Given the description of an element on the screen output the (x, y) to click on. 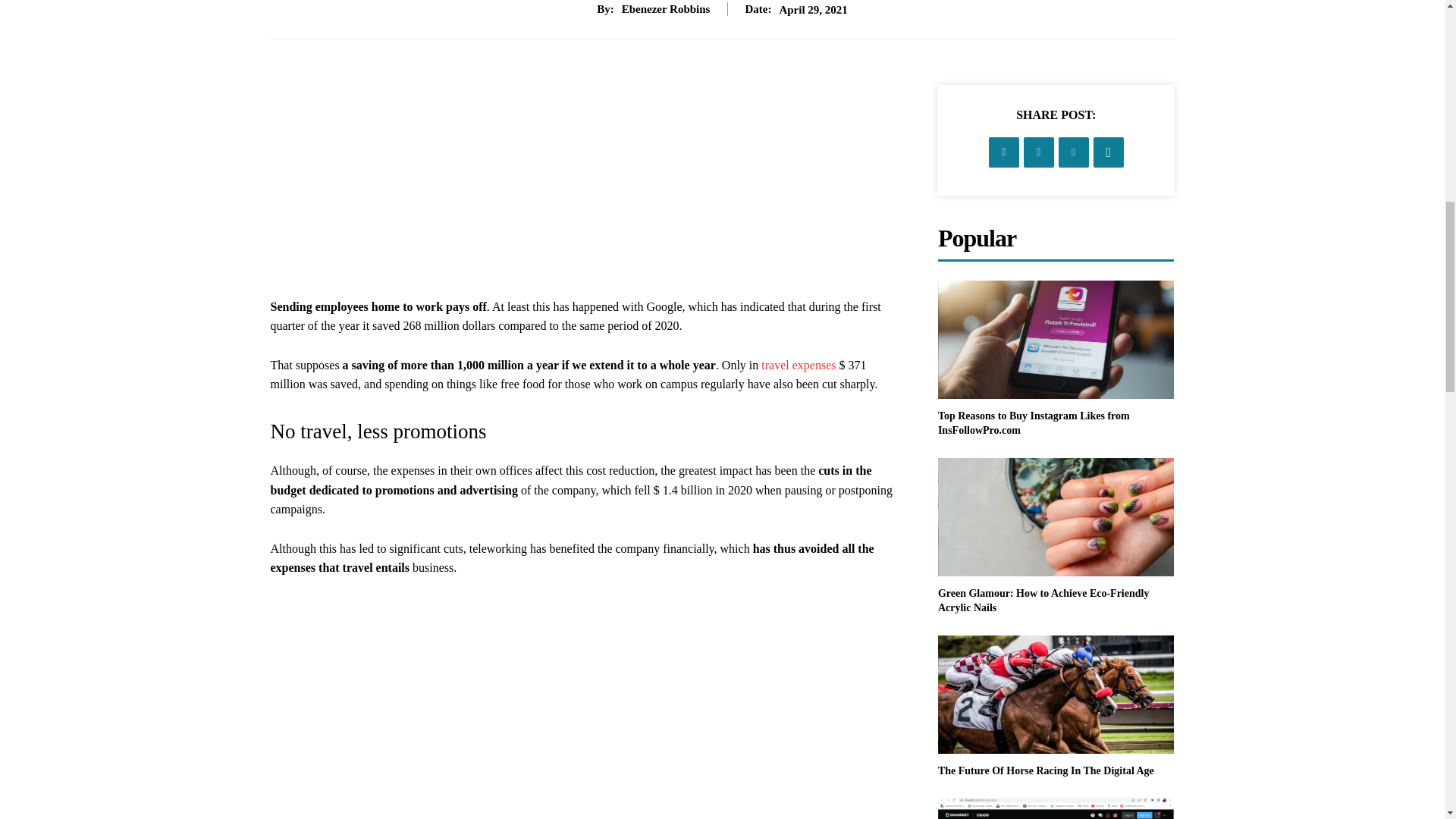
Facebook (1003, 152)
Green Glamour: How to Achieve Eco-Friendly Acrylic Nails (1055, 516)
Advertisement (585, 718)
Top Reasons to Buy Instagram Likes from InsFollowPro.com (1033, 423)
Advertisement (585, 191)
Green Glamour: How to Achieve Eco-Friendly Acrylic Nails (1043, 601)
WhatsApp (1108, 152)
Twitter (1038, 152)
Pinterest (1073, 152)
Top Reasons to Buy Instagram Likes from InsFollowPro.com (1055, 339)
